Given the description of an element on the screen output the (x, y) to click on. 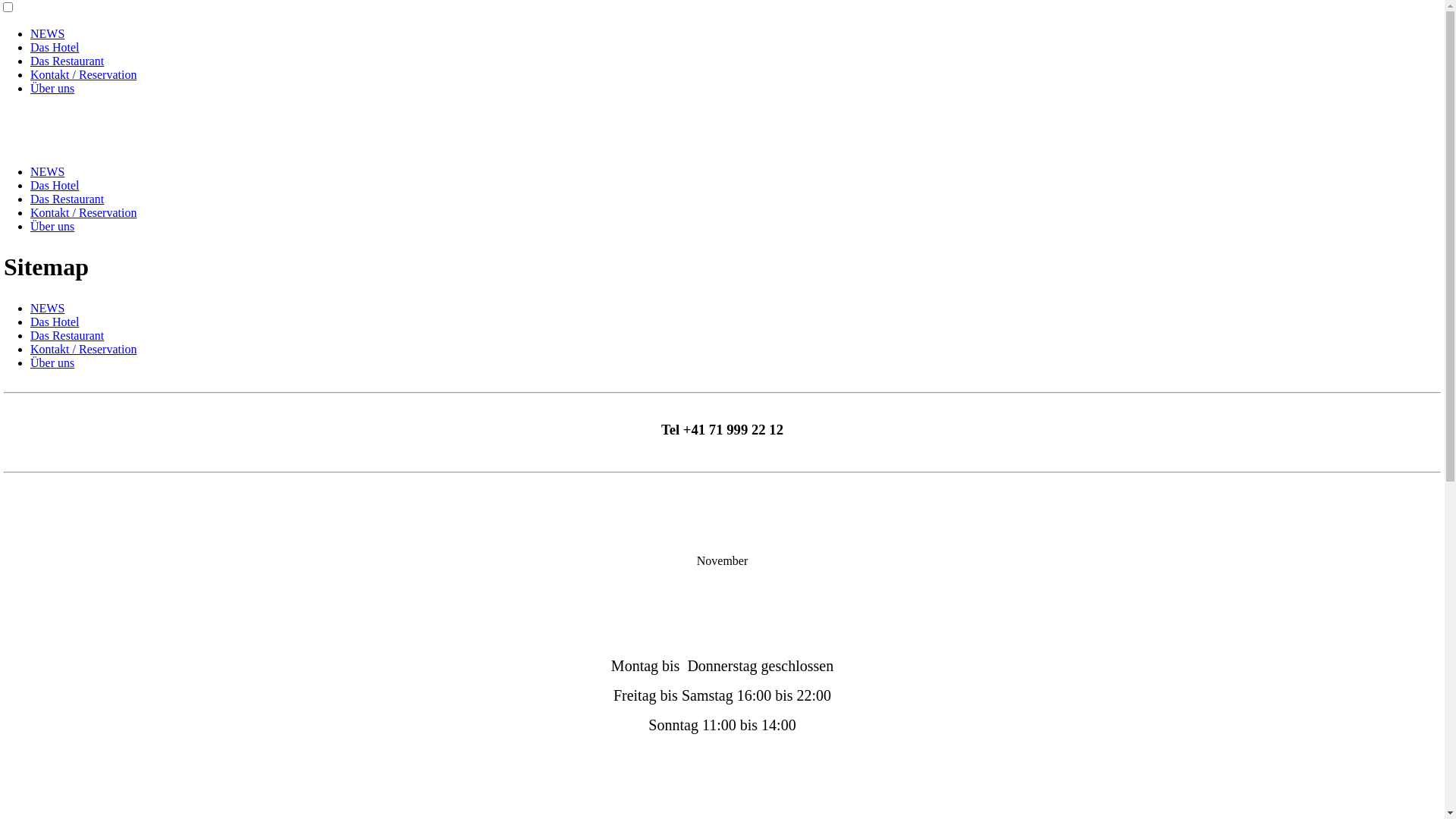
Das Restaurant Element type: text (66, 335)
Das Restaurant Element type: text (66, 60)
Kontakt / Reservation Element type: text (83, 74)
NEWS Element type: text (47, 171)
Kontakt / Reservation Element type: text (83, 212)
Das Restaurant Element type: text (66, 198)
Kontakt / Reservation Element type: text (83, 348)
Das Hotel Element type: text (54, 184)
Das Hotel Element type: text (54, 321)
Das Hotel Element type: text (54, 46)
NEWS Element type: text (47, 307)
NEWS Element type: text (47, 33)
